Given the description of an element on the screen output the (x, y) to click on. 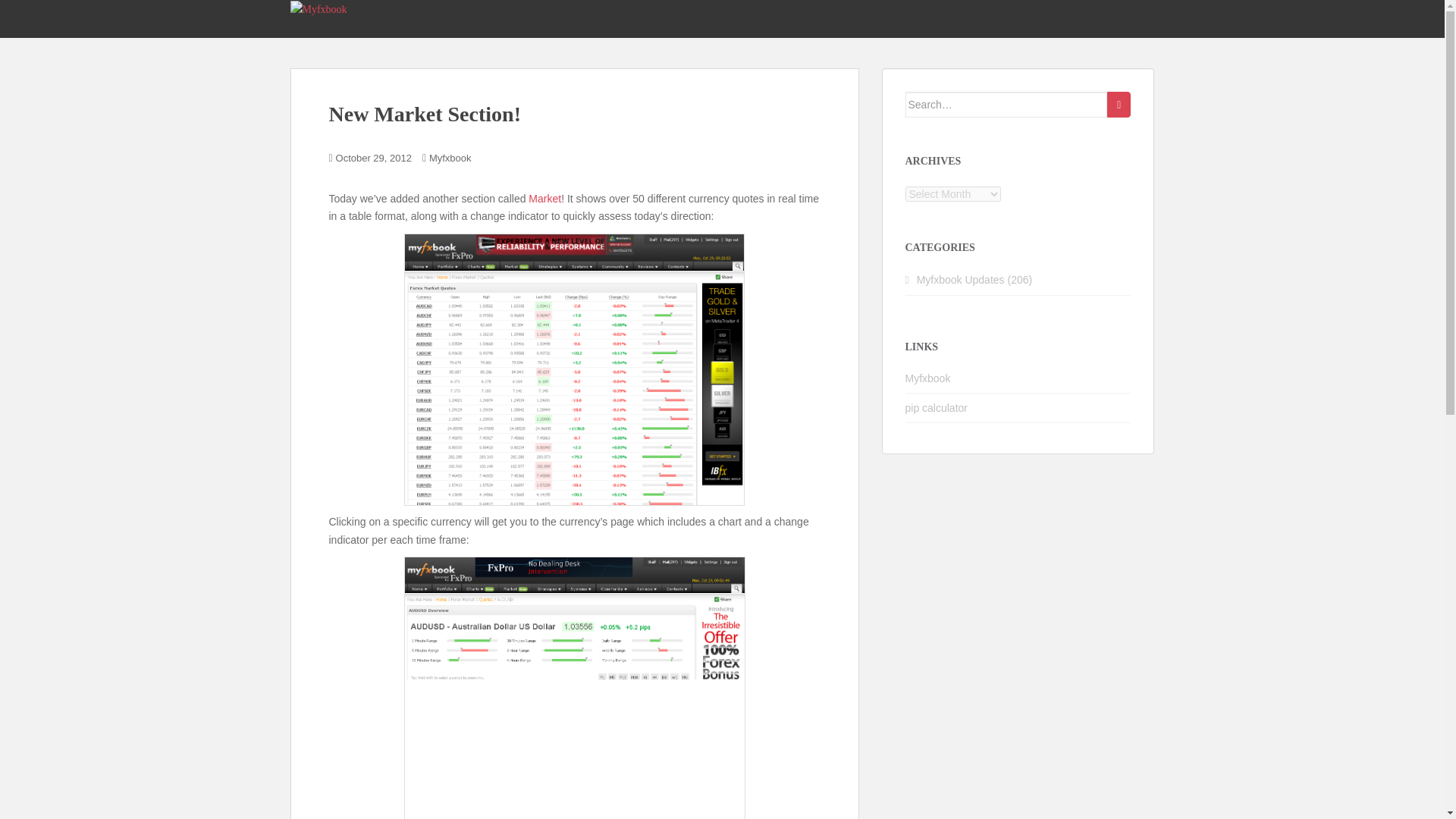
October 29, 2012 (374, 157)
pip calculator (936, 408)
Myfxbook Updates (960, 279)
Myfxbook (450, 157)
Market (544, 198)
forex.market.quotes (574, 369)
forex.market.quote (573, 687)
Search for: (1006, 104)
Search (1118, 104)
